Given the description of an element on the screen output the (x, y) to click on. 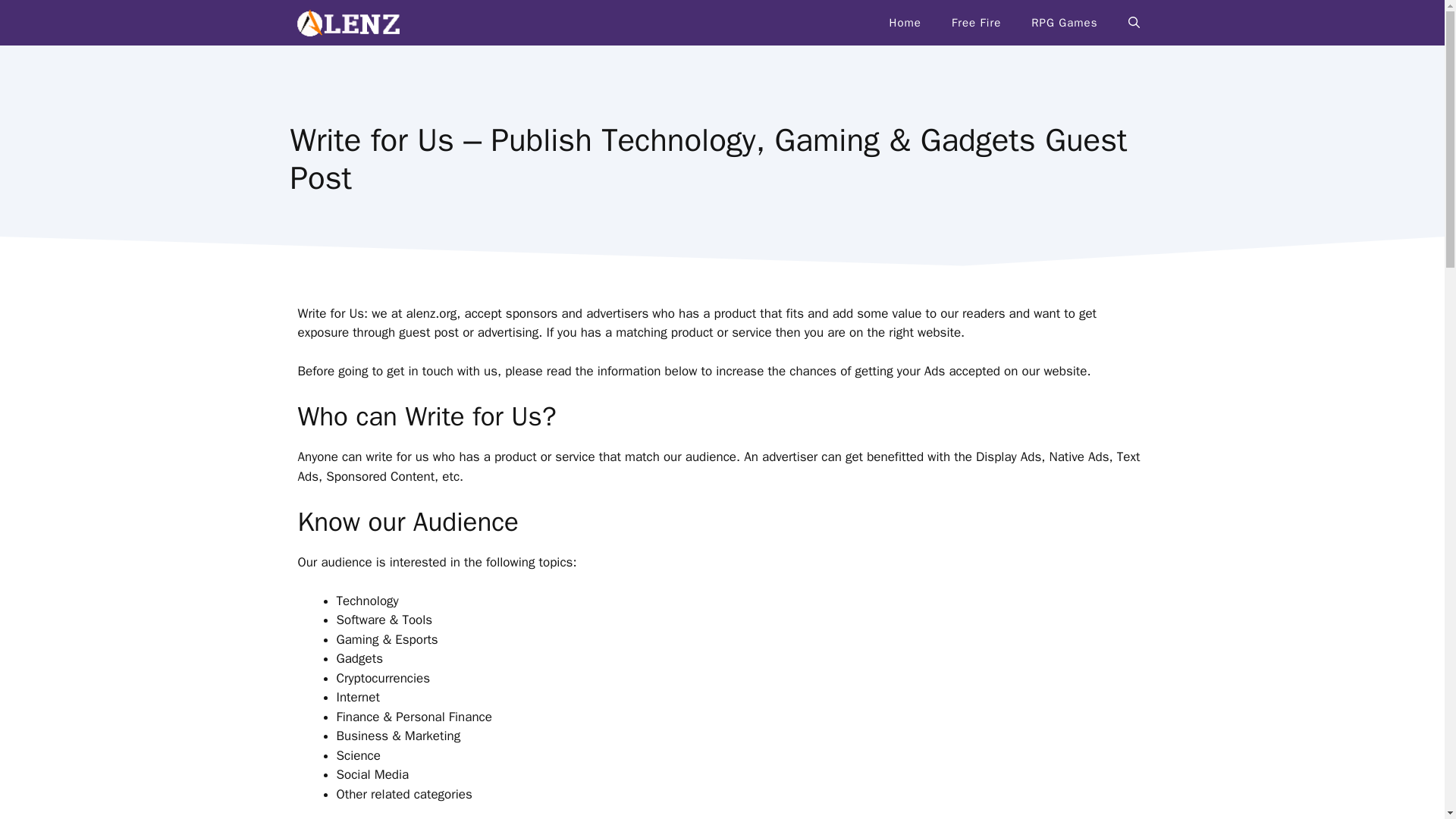
RPG Games (1064, 22)
Free Fire (976, 22)
Home (905, 22)
Alenz (347, 22)
